Given the description of an element on the screen output the (x, y) to click on. 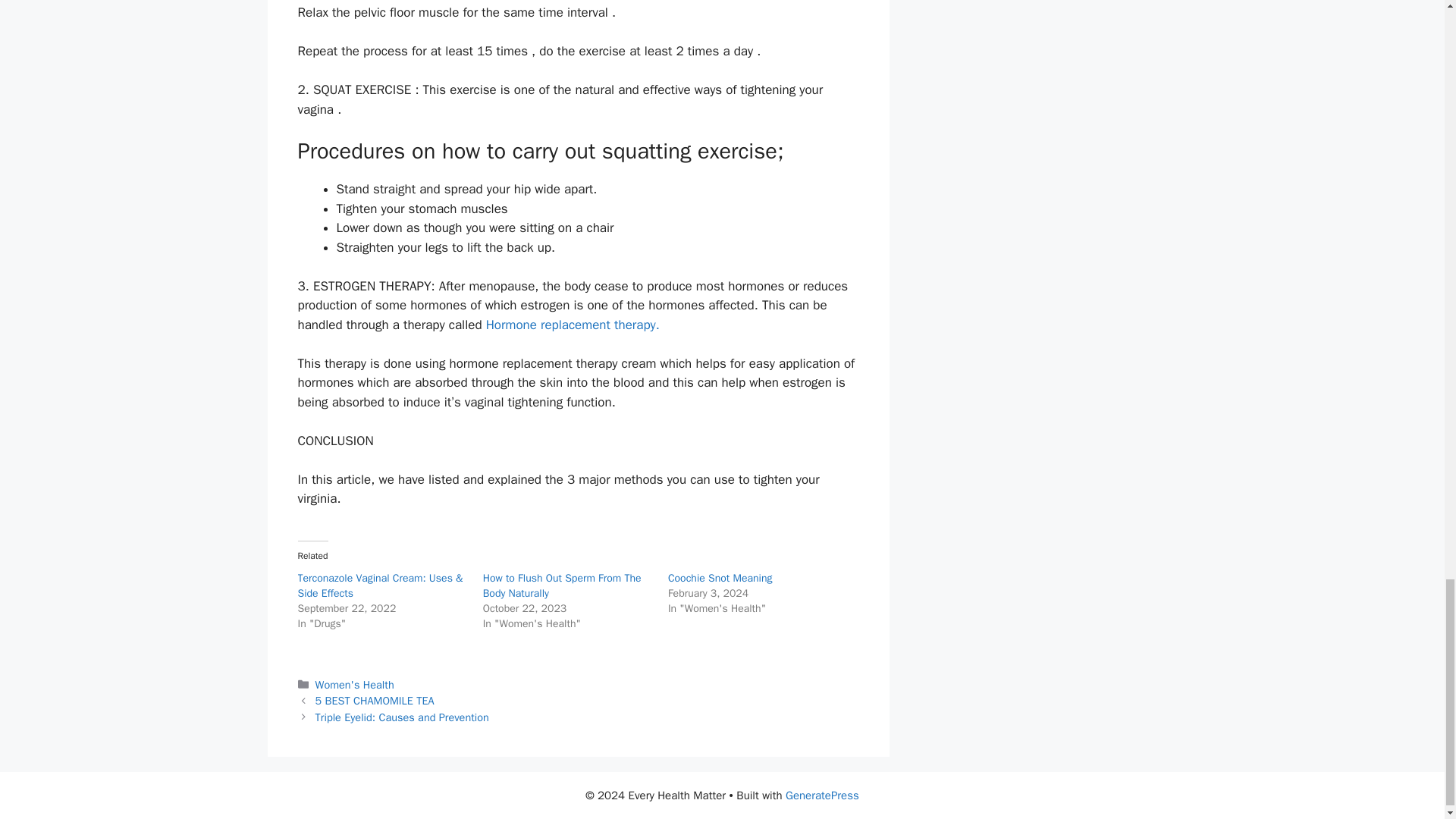
Triple Eyelid: Causes and Prevention (402, 716)
Coochie Snot Meaning (720, 577)
GeneratePress (822, 795)
Hormone replacement therapy. (572, 324)
How to Flush Out Sperm From The Body Naturally (562, 585)
How to Flush Out Sperm From The Body Naturally (562, 585)
5 BEST CHAMOMILE TEA (374, 700)
Women's Health (354, 684)
Coochie Snot Meaning (720, 577)
